Given the description of an element on the screen output the (x, y) to click on. 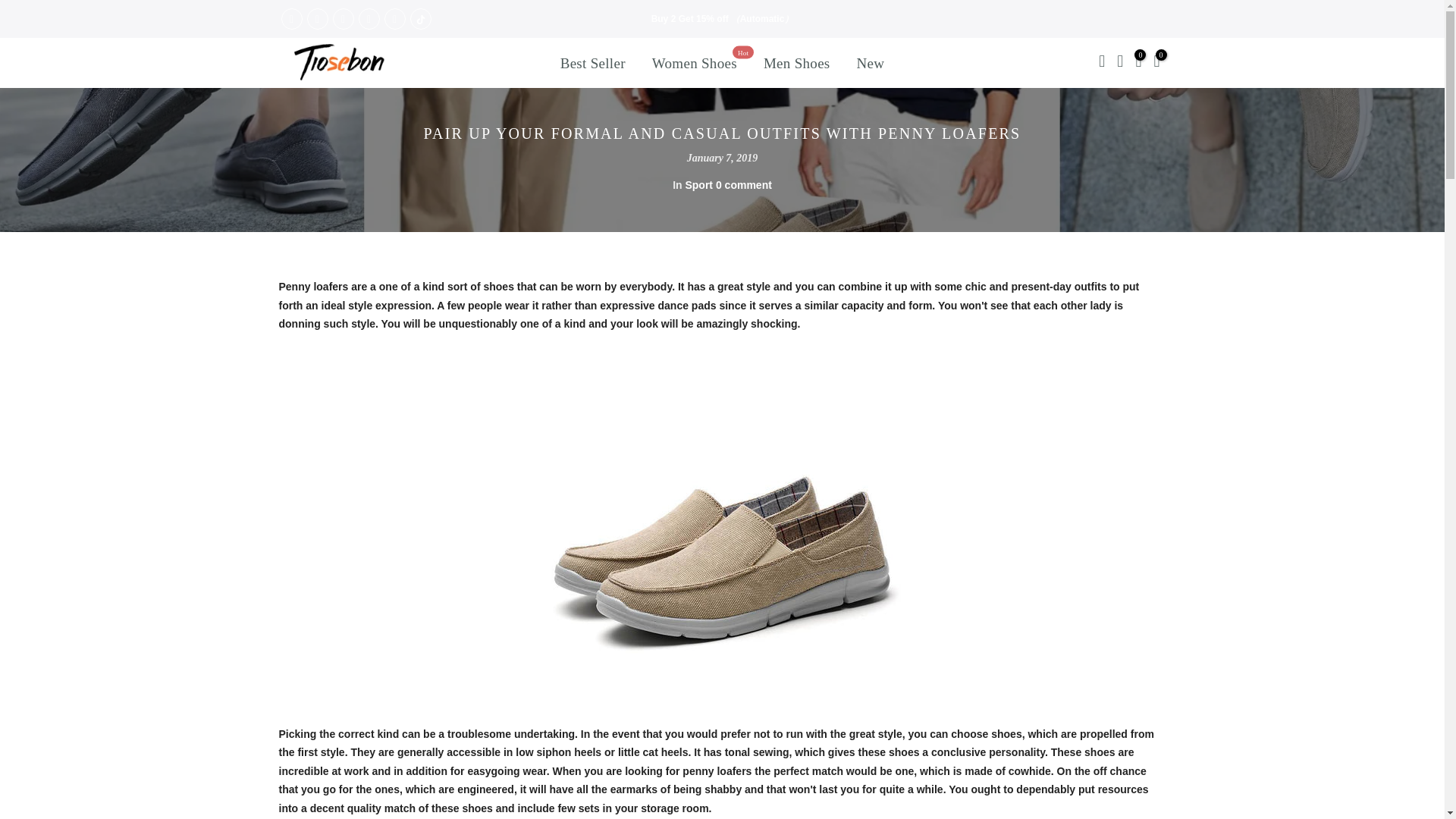
0 comment (743, 184)
Best Seller (694, 62)
Men Shoes (593, 62)
Sale (796, 62)
Sport (689, 18)
0 (698, 184)
New (1138, 62)
